Given the description of an element on the screen output the (x, y) to click on. 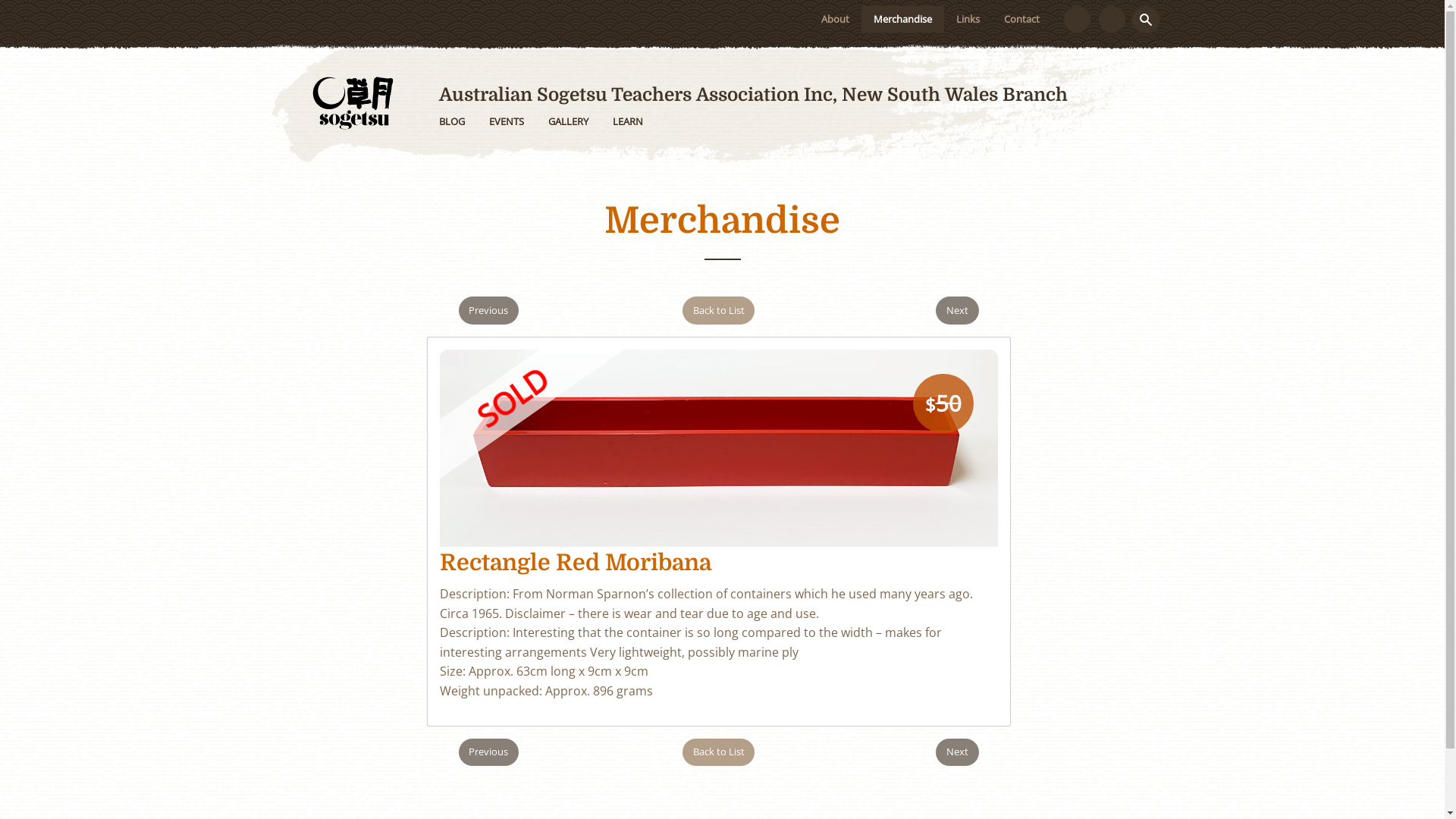
Contact Element type: text (1021, 19)
Back to List Element type: text (718, 752)
Sogetsu Ikebana NSW Homepage Element type: hover (352, 101)
BLOG Element type: text (451, 121)
About Element type: text (835, 19)
Merchandise Element type: text (902, 19)
Next Element type: text (957, 752)
Previous Element type: text (488, 752)
EVENTS Element type: text (505, 121)
GALLERY Element type: text (567, 121)
LEARN Element type: text (627, 121)
Links Element type: text (967, 19)
Back to List Element type: text (718, 310)
Previous Element type: text (488, 310)
Next Element type: text (957, 310)
